Given the description of an element on the screen output the (x, y) to click on. 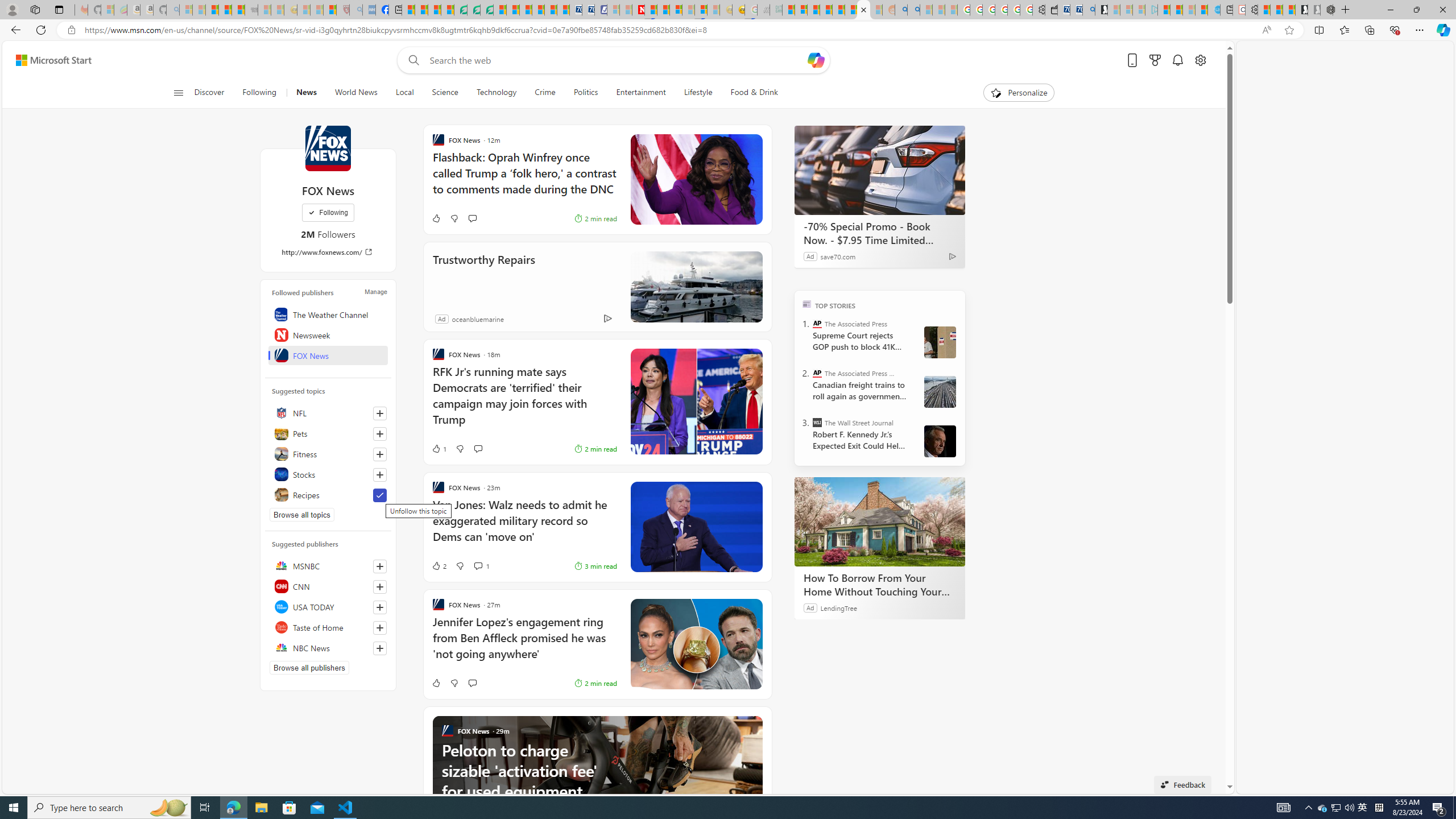
USA TODAY (327, 606)
CNN (327, 586)
